Given the description of an element on the screen output the (x, y) to click on. 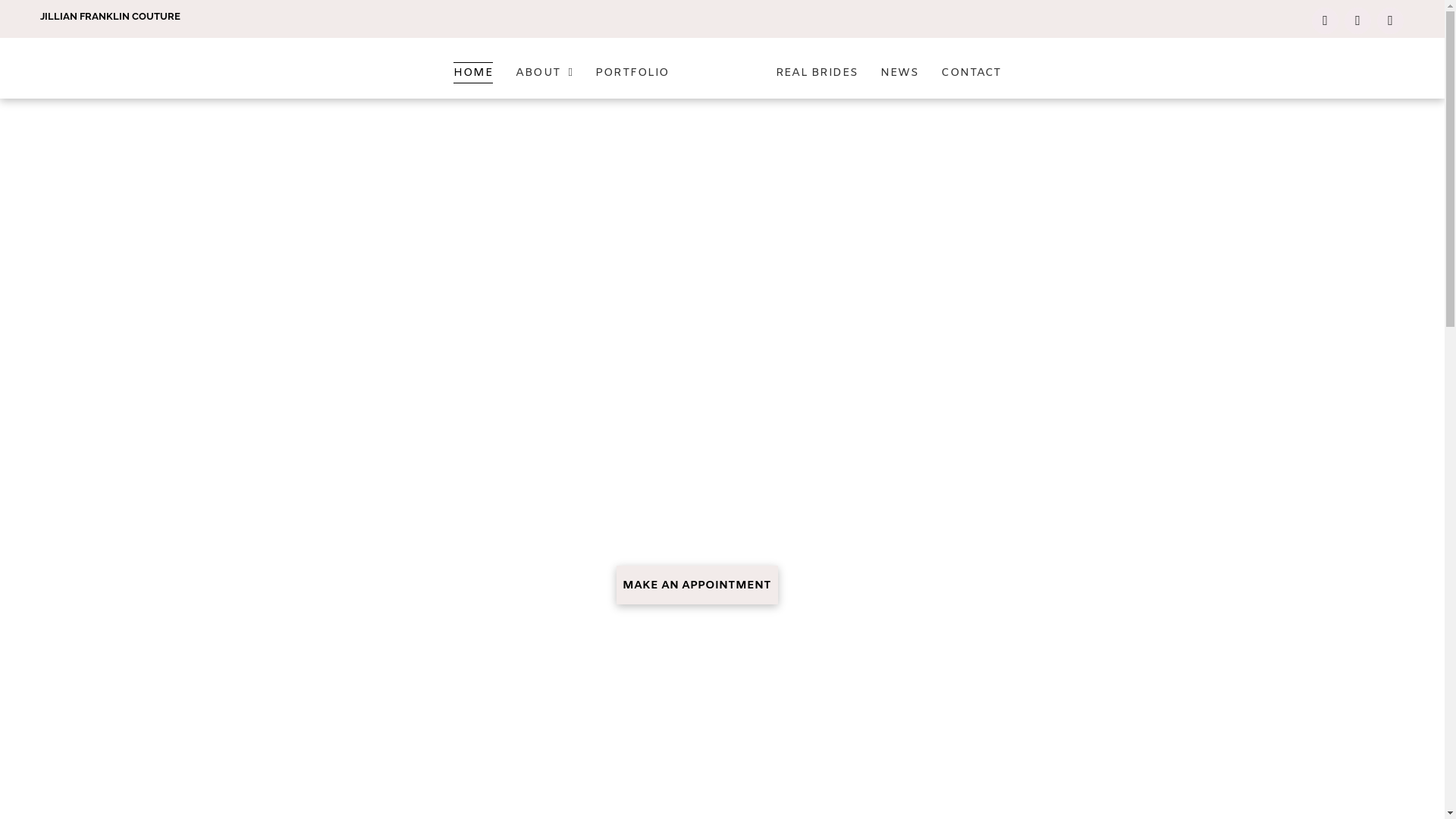
HOME Element type: text (473, 71)
ABOUT Element type: text (543, 71)
REAL BRIDES Element type: text (816, 71)
MAKE AN APPOINTMENT Element type: text (696, 584)
NEWS Element type: text (899, 71)
CONTACT Element type: text (970, 71)
PORTFOLIO Element type: text (631, 71)
